Given the description of an element on the screen output the (x, y) to click on. 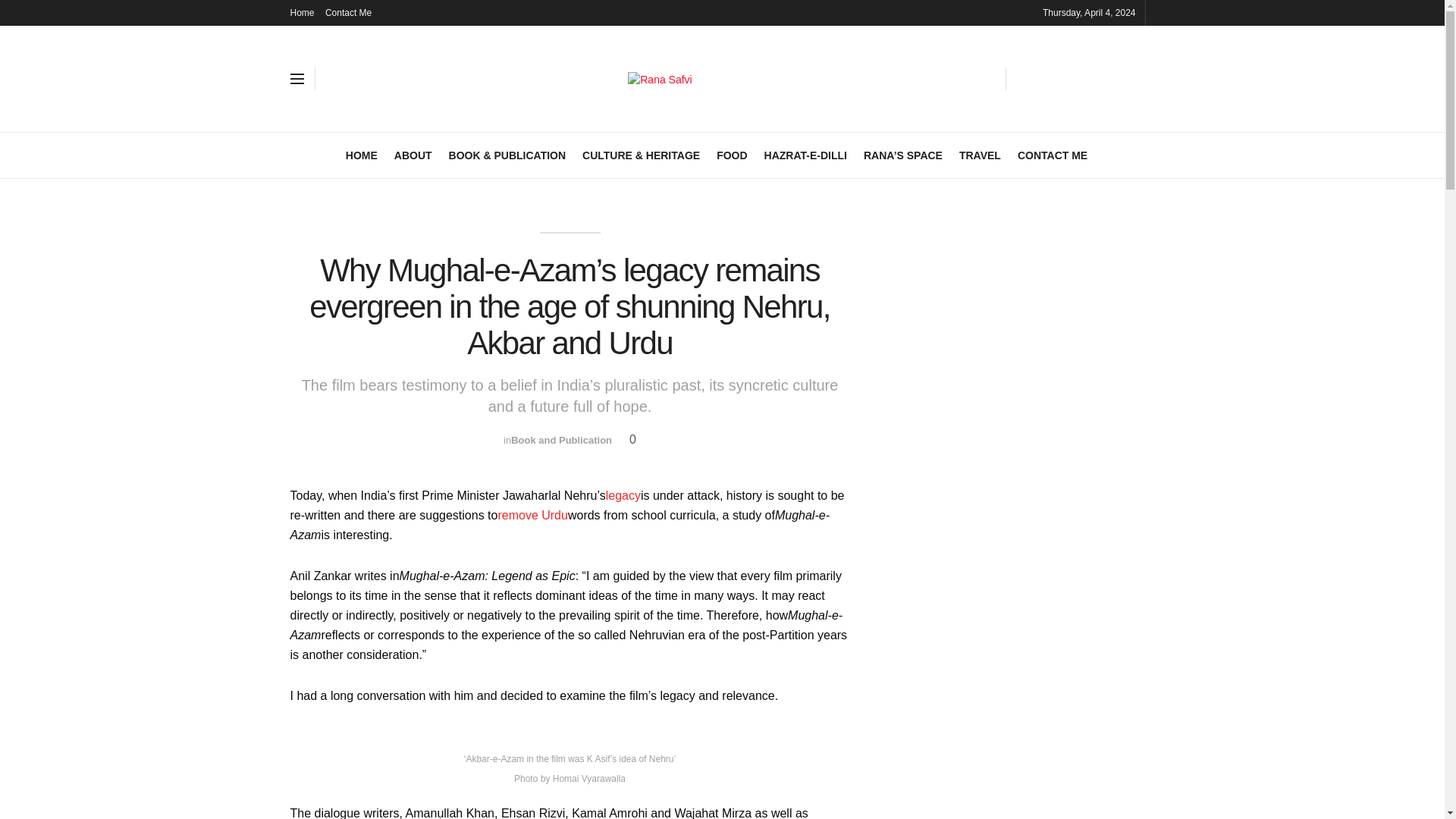
Contact Me (347, 12)
Home (301, 12)
remove Urdu (532, 514)
HOME (361, 155)
TRAVEL (980, 155)
ABOUT (413, 155)
HAZRAT-E-DILLI (805, 155)
FOOD (731, 155)
legacy  (622, 495)
